Given the description of an element on the screen output the (x, y) to click on. 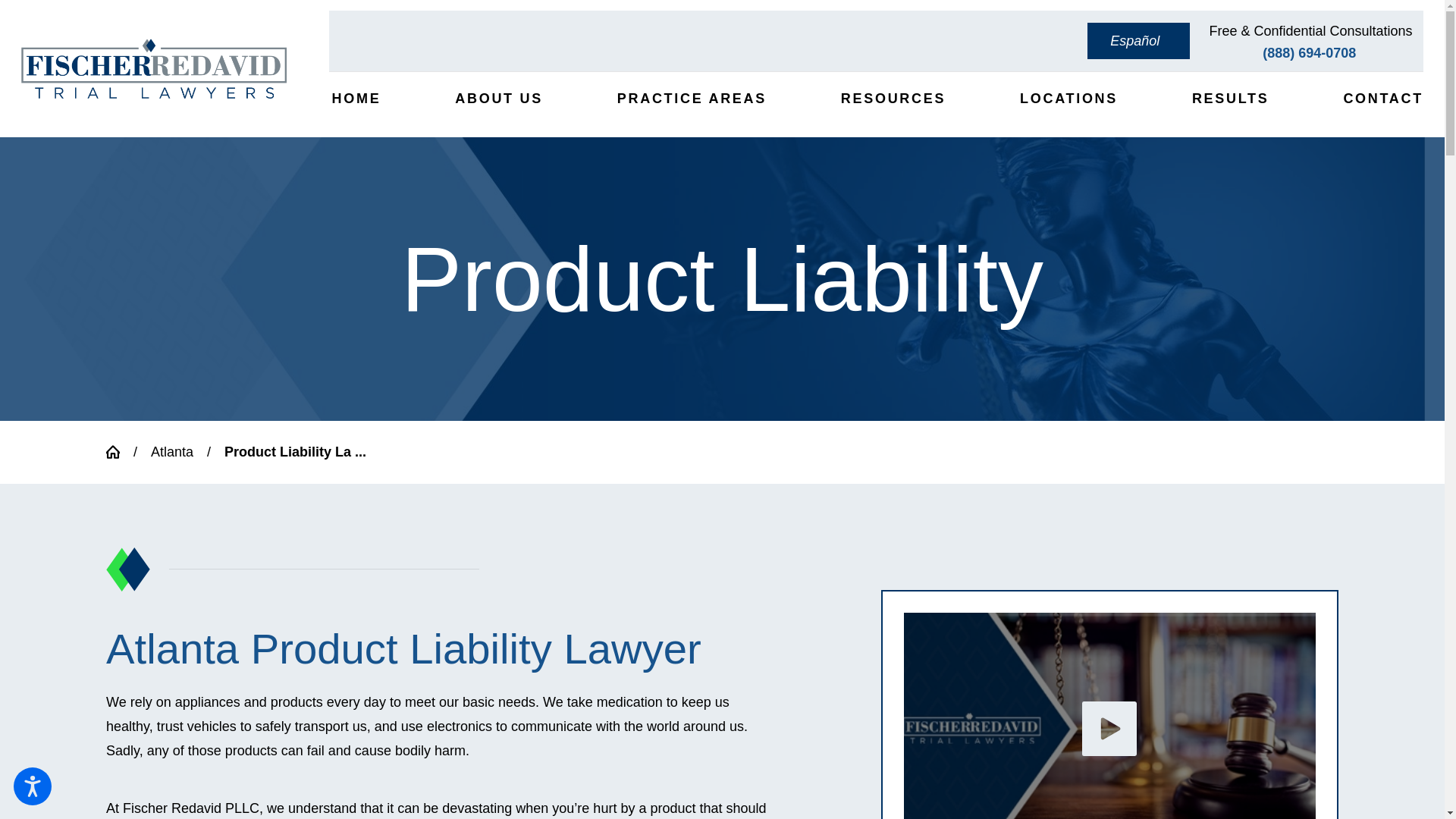
LOCATIONS (1067, 98)
Fischer Redavid (1110, 715)
Go Home (119, 451)
RESOURCES (891, 98)
Fischer Redavid PLLC (153, 68)
ABOUT US (497, 98)
Open the accessibility options menu (31, 786)
HOME (354, 98)
PRACTICE AREAS (690, 98)
